Given the description of an element on the screen output the (x, y) to click on. 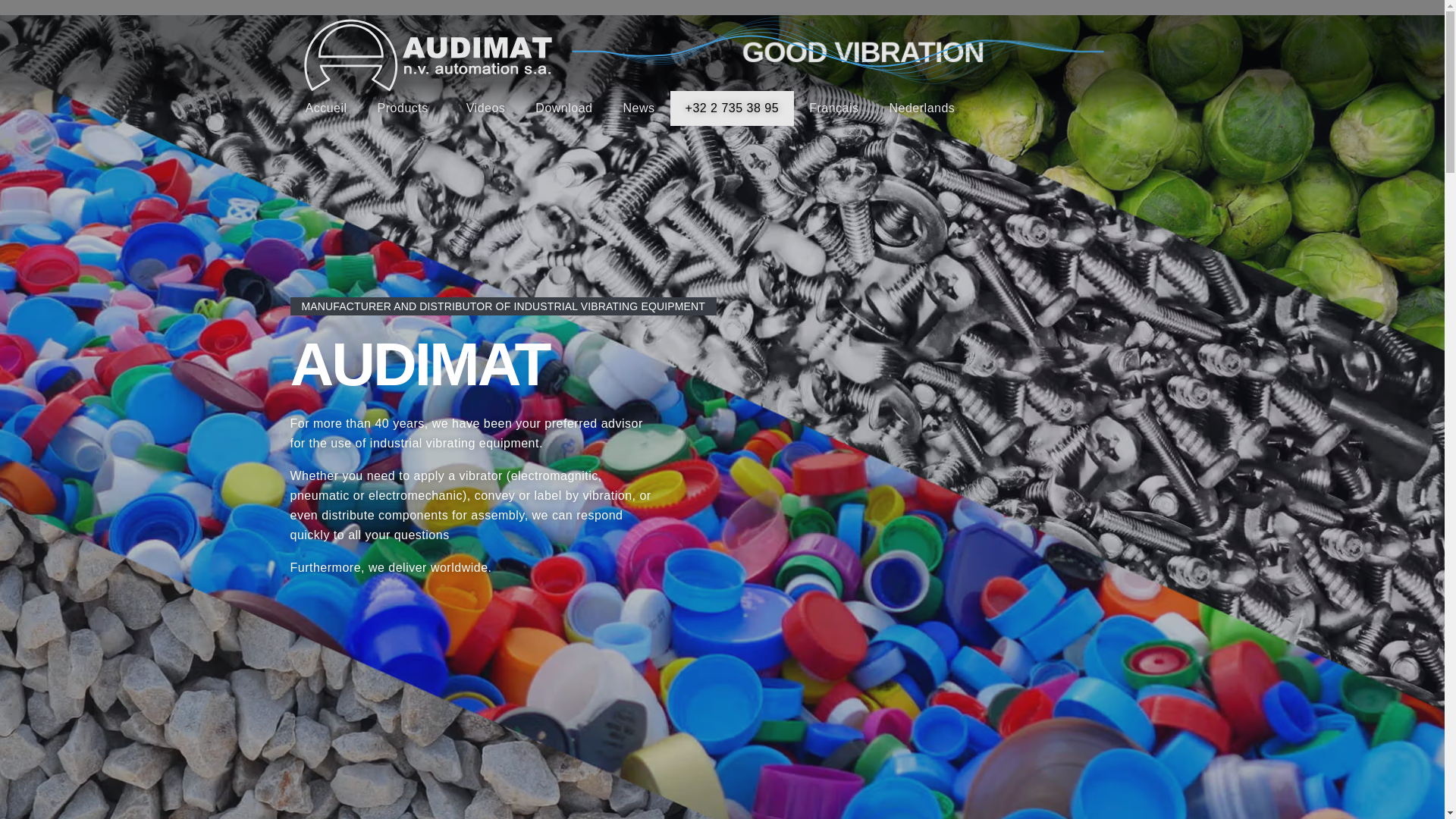
+32 2 735 38 95 Element type: text (732, 108)
Accueil Element type: text (325, 108)
News Element type: text (639, 108)
Products Element type: text (406, 108)
Videos Element type: text (485, 108)
Download Element type: text (563, 108)
Nederlands Element type: text (921, 108)
